Given the description of an element on the screen output the (x, y) to click on. 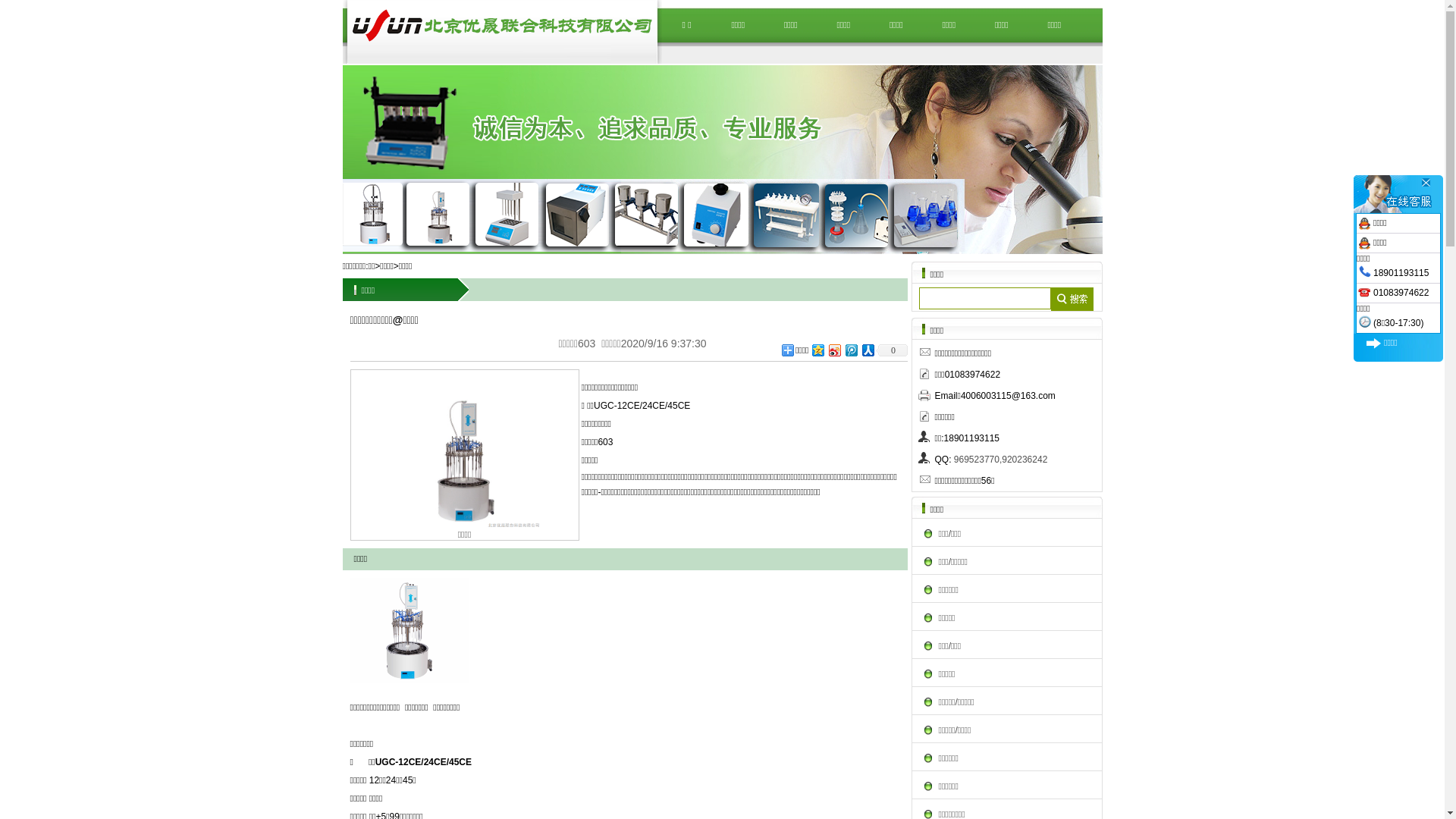
969523770,920236242 Element type: text (1000, 459)
0 Element type: text (890, 350)
